Given the description of an element on the screen output the (x, y) to click on. 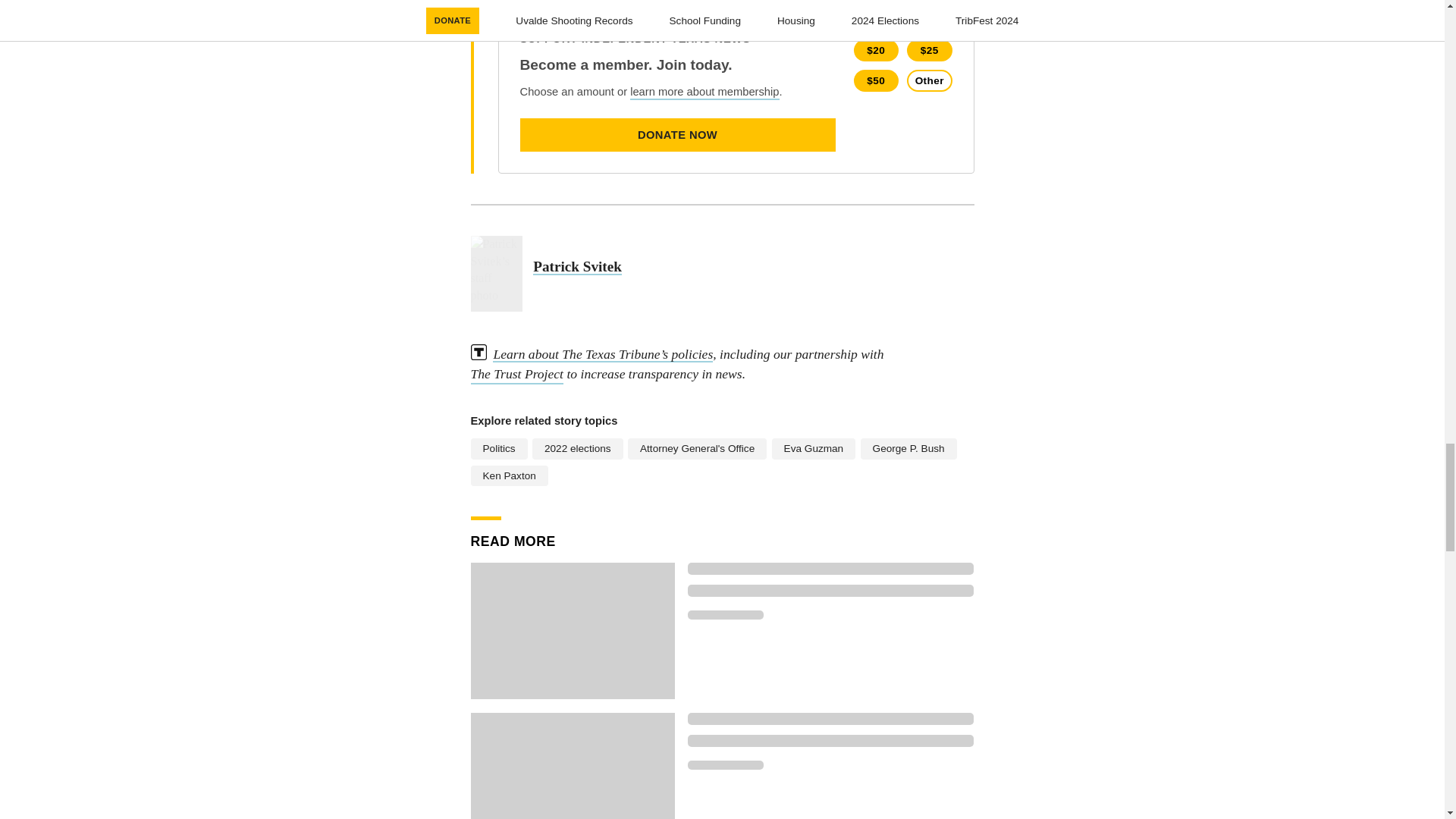
Loading indicator (830, 718)
Loading indicator (830, 590)
Loading indicator (830, 740)
Loading indicator (830, 568)
Loading indicator (724, 614)
Loading indicator (724, 764)
